Given the description of an element on the screen output the (x, y) to click on. 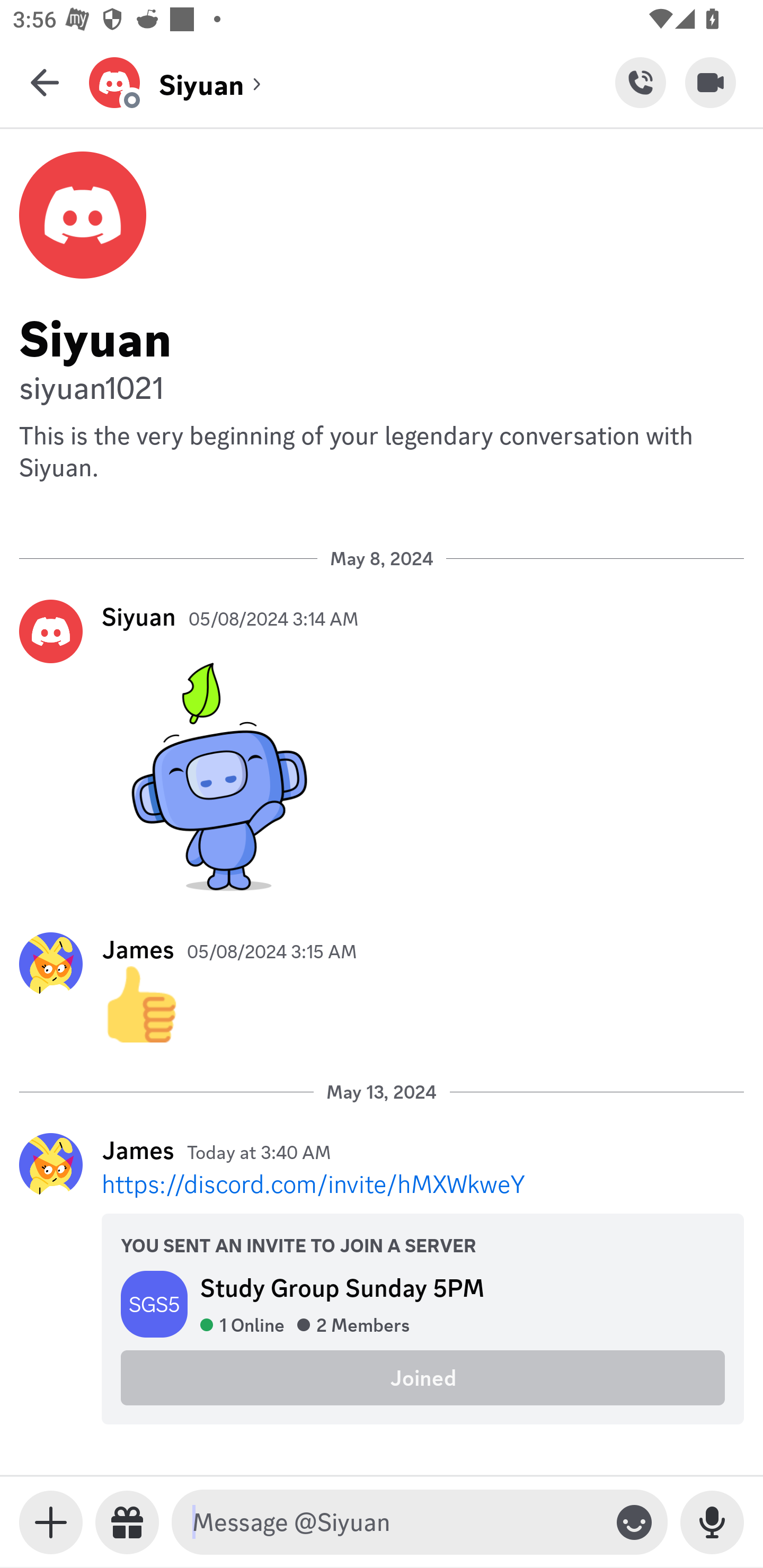
Siyuan (channel) Siyuan Siyuan (channel) (351, 82)
Back (44, 82)
Start Voice Call (640, 82)
Start Video Call (710, 82)
Siyuan (381, 335)
siyuan1021 (381, 386)
Siyuan 05/08/2024 3:14 AM (381, 749)
Siyuan (138, 615)
James (137, 948)
James (137, 1149)
Joined (422, 1377)
Toggle media keyboard (50, 1522)
Send a gift (126, 1522)
Record Voice Message (711, 1522)
Message @Siyuan (395, 1522)
Toggle emoji keyboard (634, 1522)
